Given the description of an element on the screen output the (x, y) to click on. 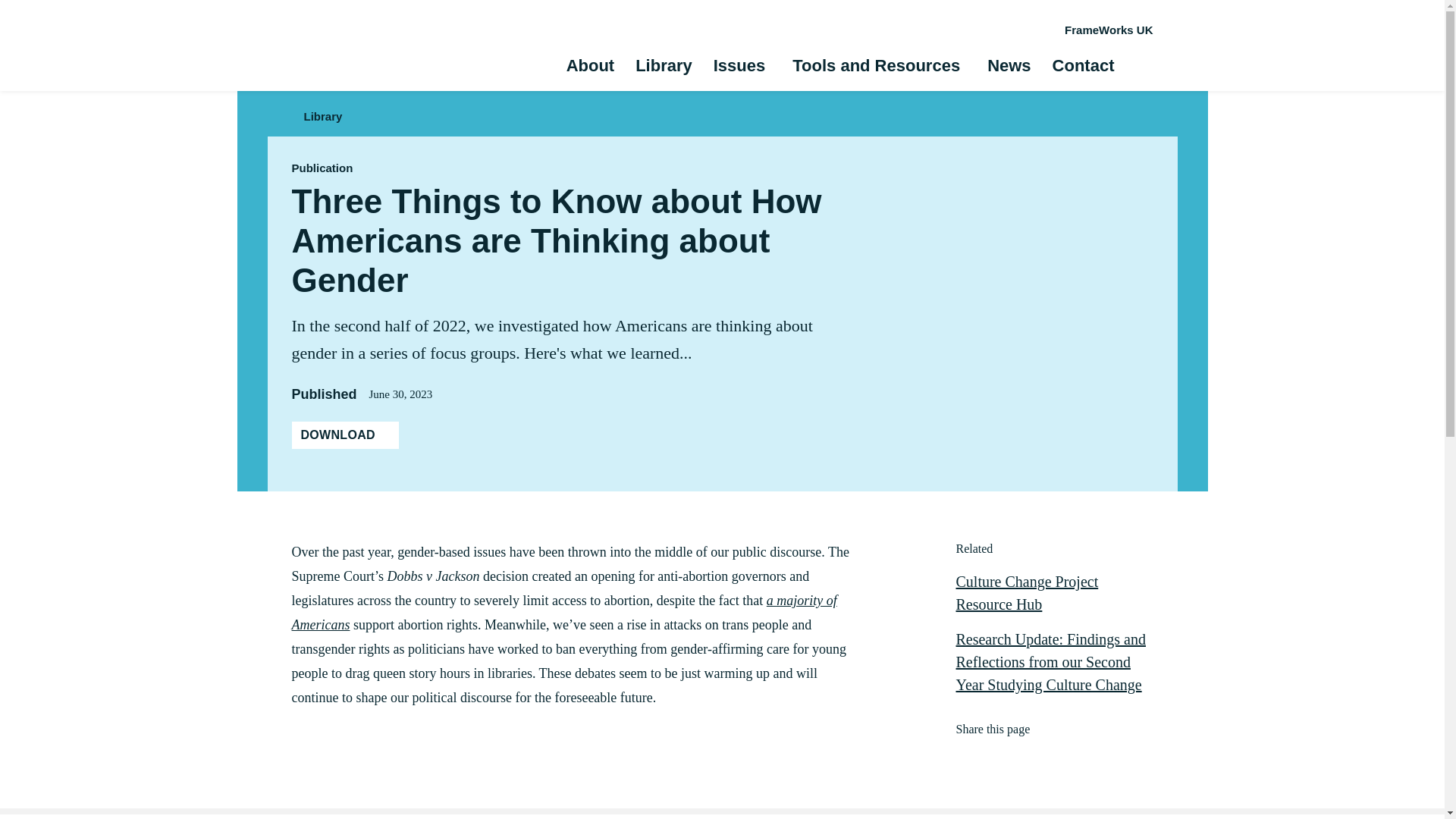
Tools and Resources (875, 66)
Share on email (1046, 758)
About (590, 66)
Go to homepage (327, 46)
a majority of Americans (563, 612)
FrameWorks UK (1108, 29)
Share on Facebook (962, 757)
Issues (739, 66)
News (1008, 66)
